Given the description of an element on the screen output the (x, y) to click on. 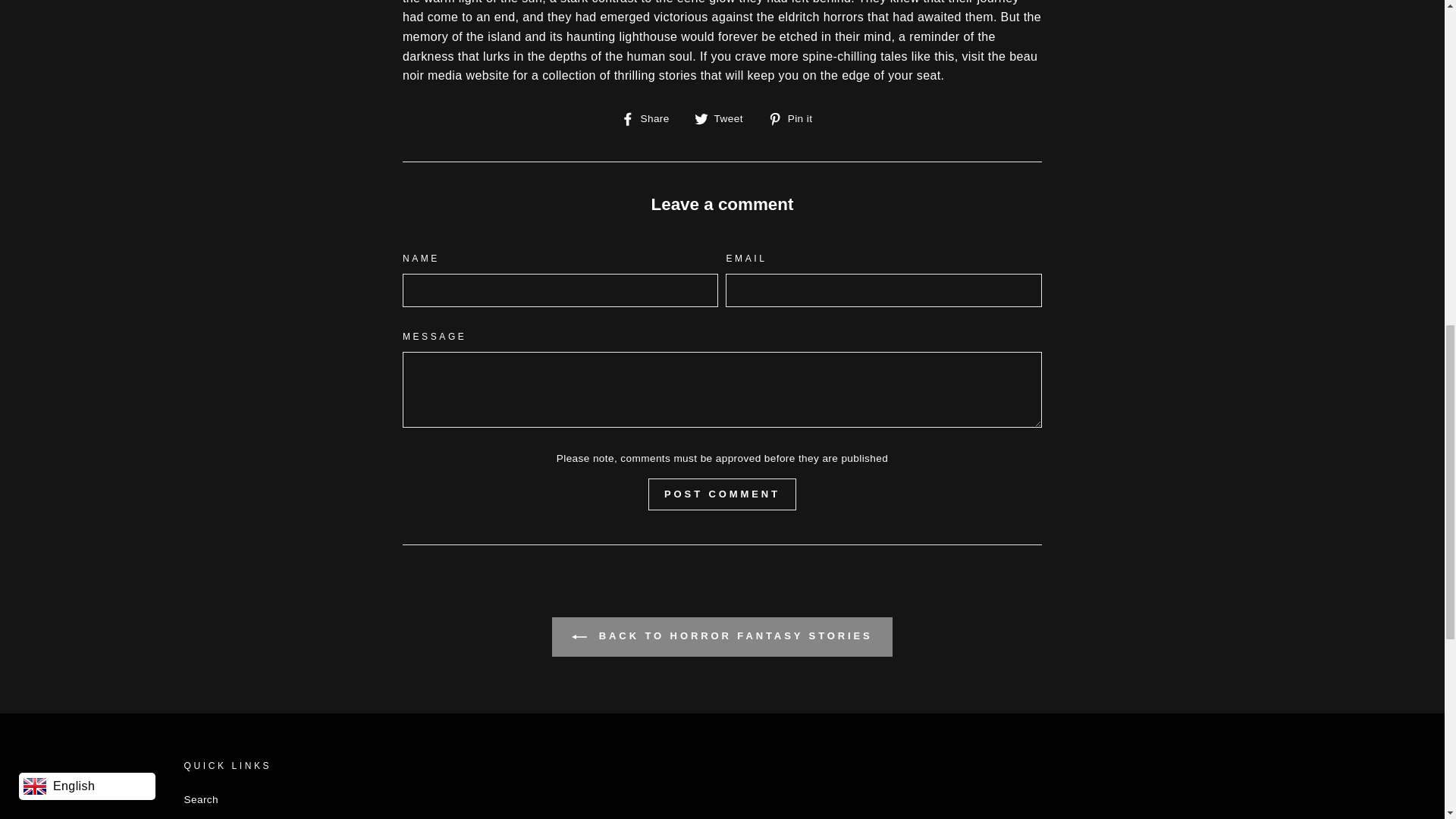
Pin on Pinterest (796, 117)
Share on Facebook (651, 117)
BACK TO HORROR FANTASY STORIES (721, 636)
Contact Us (210, 816)
Tweet on Twitter (724, 117)
Search (199, 799)
POST COMMENT (796, 117)
